Given the description of an element on the screen output the (x, y) to click on. 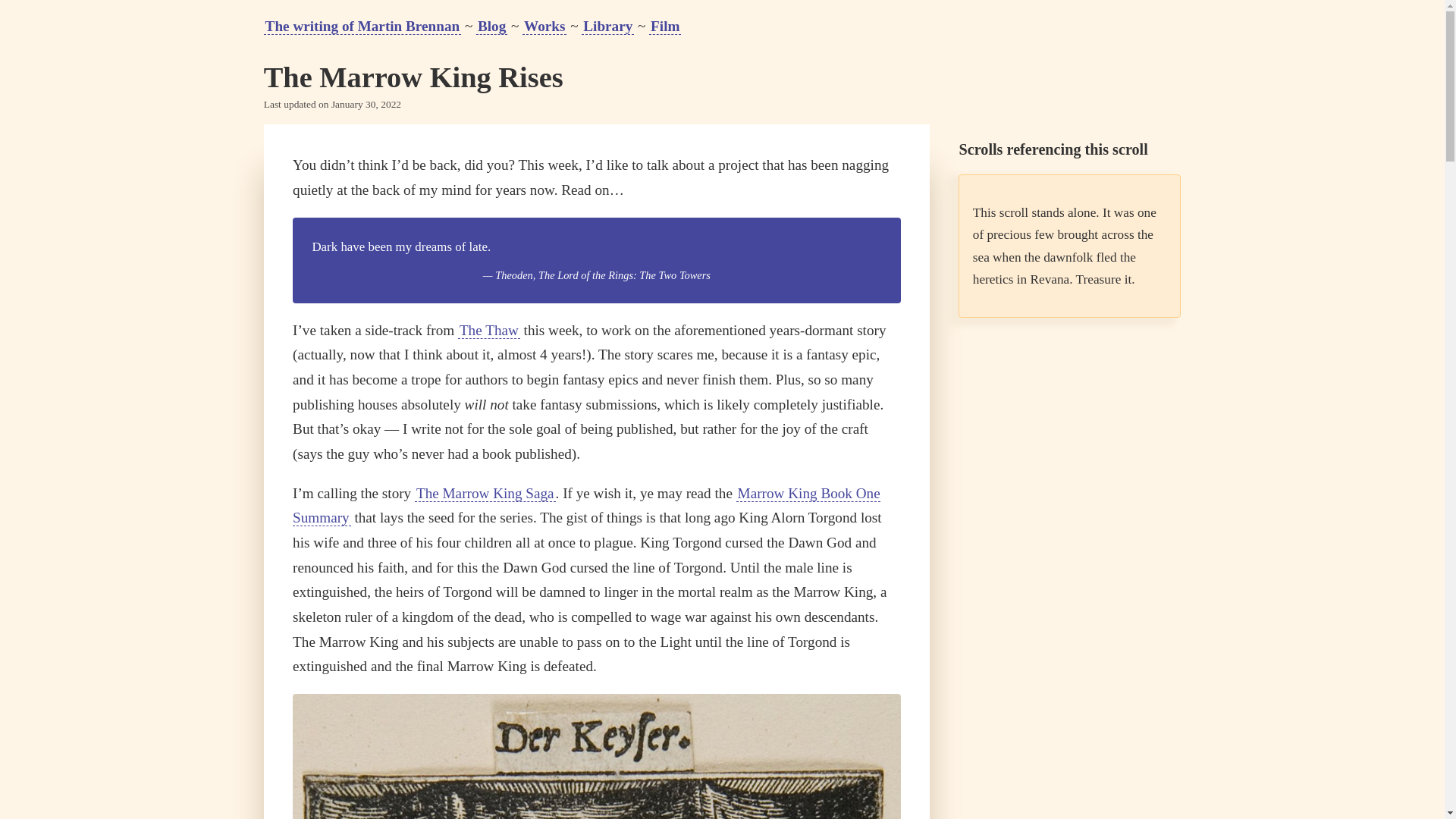
The Thaw (488, 330)
The Marrow King Saga (485, 493)
Works (544, 26)
Library (606, 26)
Blog (491, 26)
The writing of Martin Brennan (362, 26)
Marrow King Book One Summary (586, 506)
Film (665, 26)
